Given the description of an element on the screen output the (x, y) to click on. 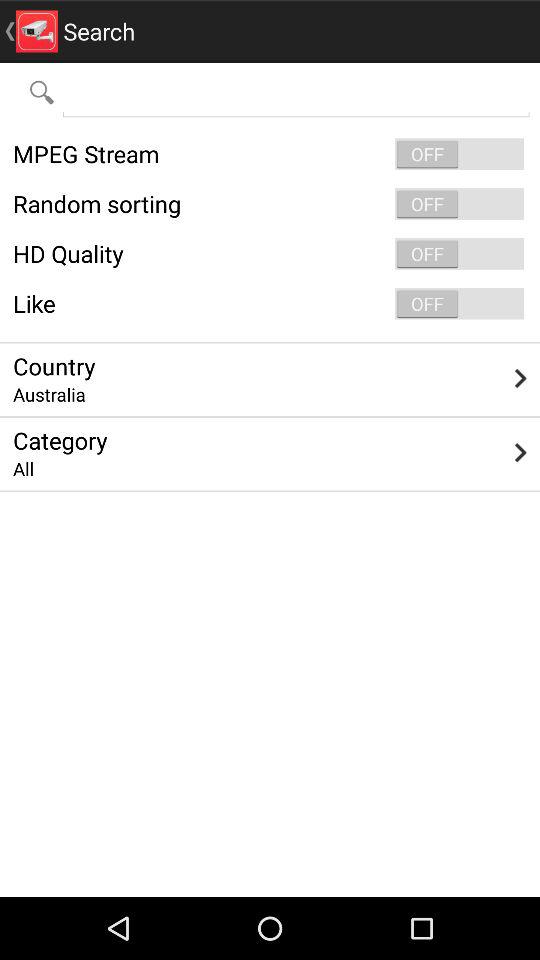
press item above mpeg stream item (295, 91)
